Given the description of an element on the screen output the (x, y) to click on. 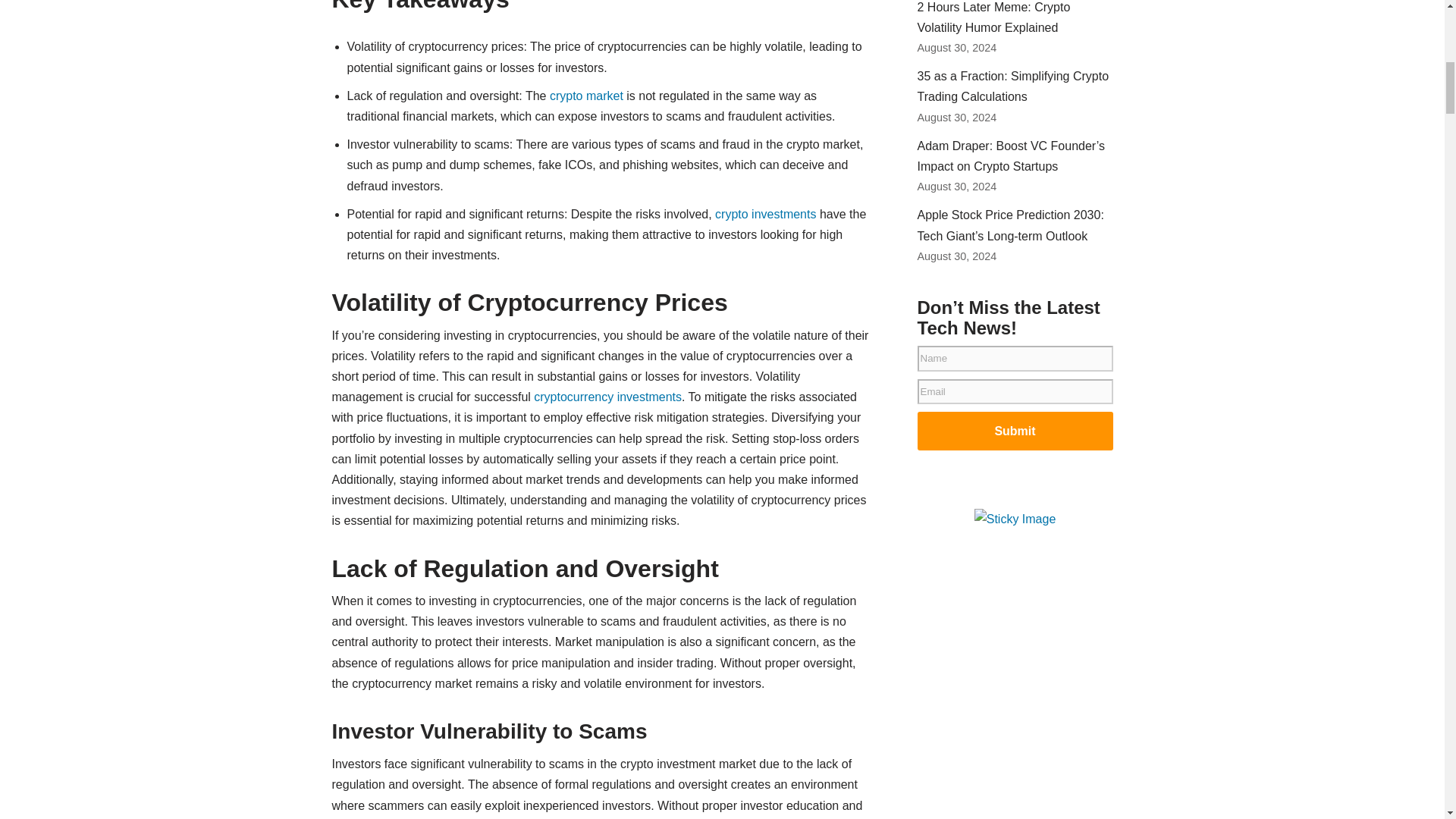
cryptocurrency investments (607, 396)
crypto investments (764, 214)
2 Hours Later Meme: Crypto Volatility Humor Explained (993, 17)
crypto market (586, 95)
Submit (1015, 431)
cryptocurrency investments (607, 396)
crypto investments (764, 214)
crypto market (586, 95)
35 as a Fraction: Simplifying Crypto Trading Calculations (1013, 86)
